Given the description of an element on the screen output the (x, y) to click on. 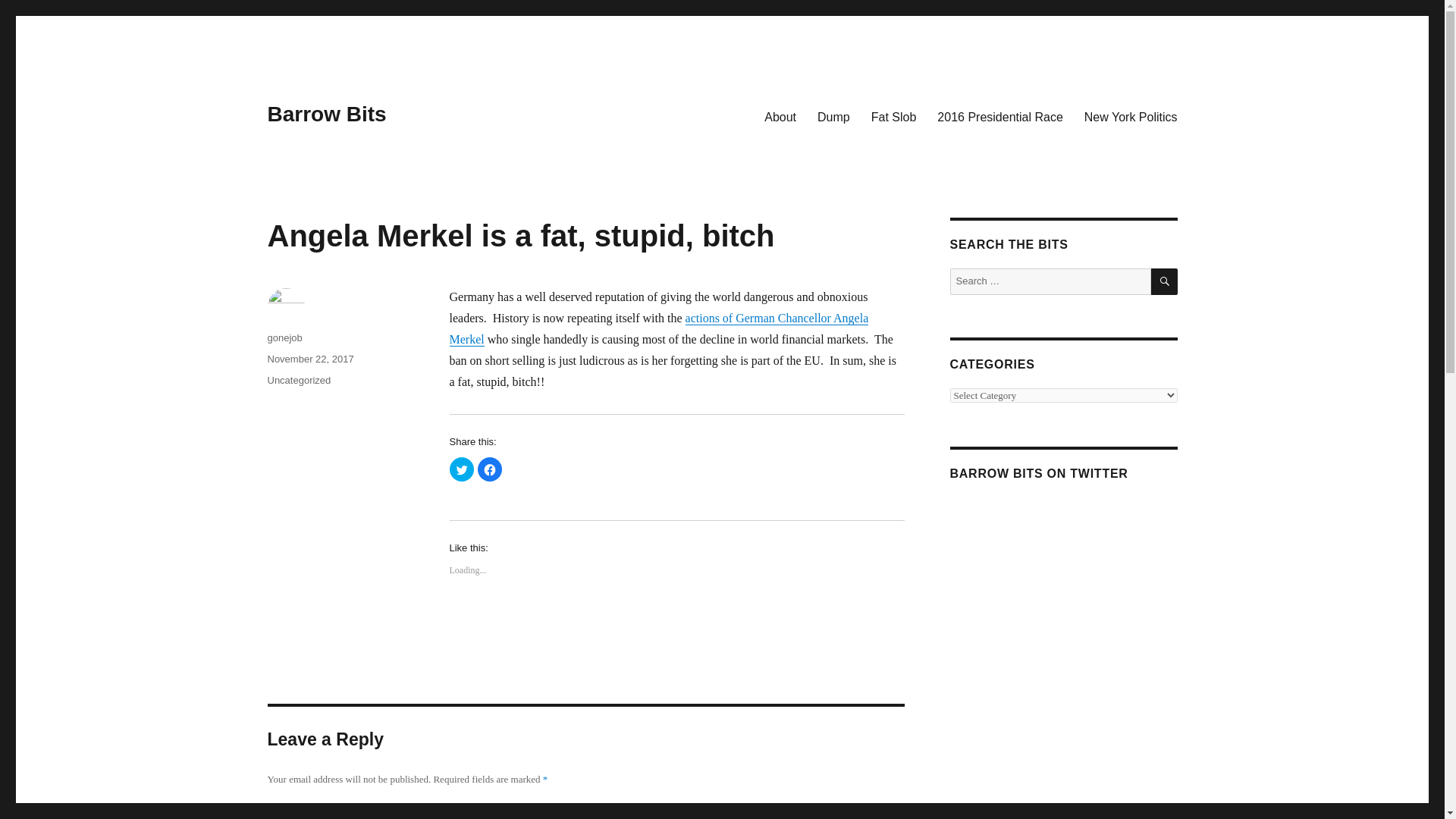
Click to share on Facebook (489, 469)
2016 Presidential Race (999, 116)
Uncategorized (298, 379)
November 22, 2017 (309, 358)
Barrow Bits (325, 114)
Click to share on Twitter (460, 469)
SEARCH (1164, 281)
Dump (833, 116)
About (780, 116)
actions of German Chancellor Angela Merkel (657, 328)
